Given the description of an element on the screen output the (x, y) to click on. 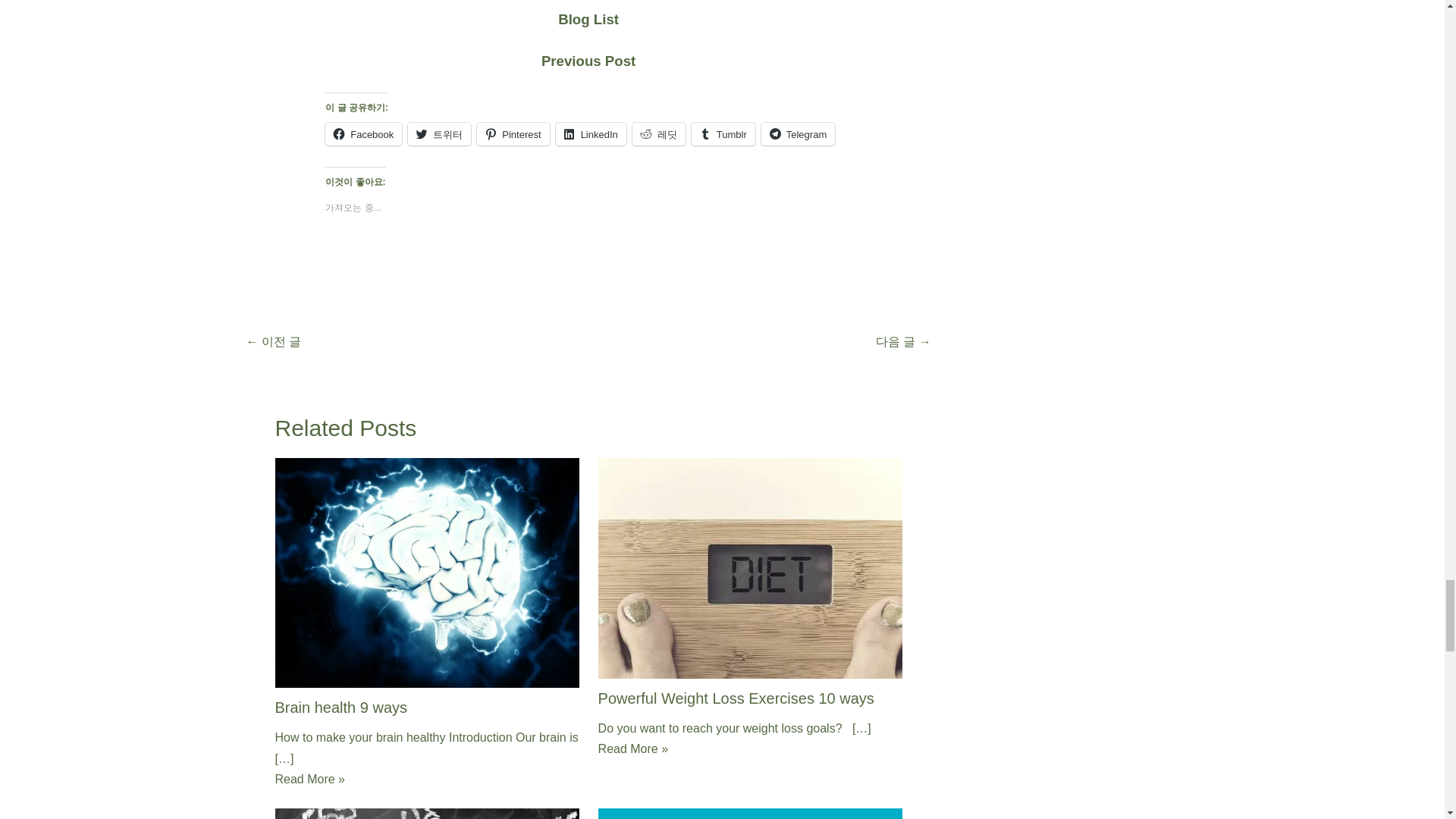
Pinterest (512, 133)
Previous Post (587, 61)
Telegram (797, 133)
Facebook (362, 133)
LinkedIn (591, 133)
Brain health 9 ways (341, 707)
Blog List (587, 19)
Tumblr (723, 133)
